Given the description of an element on the screen output the (x, y) to click on. 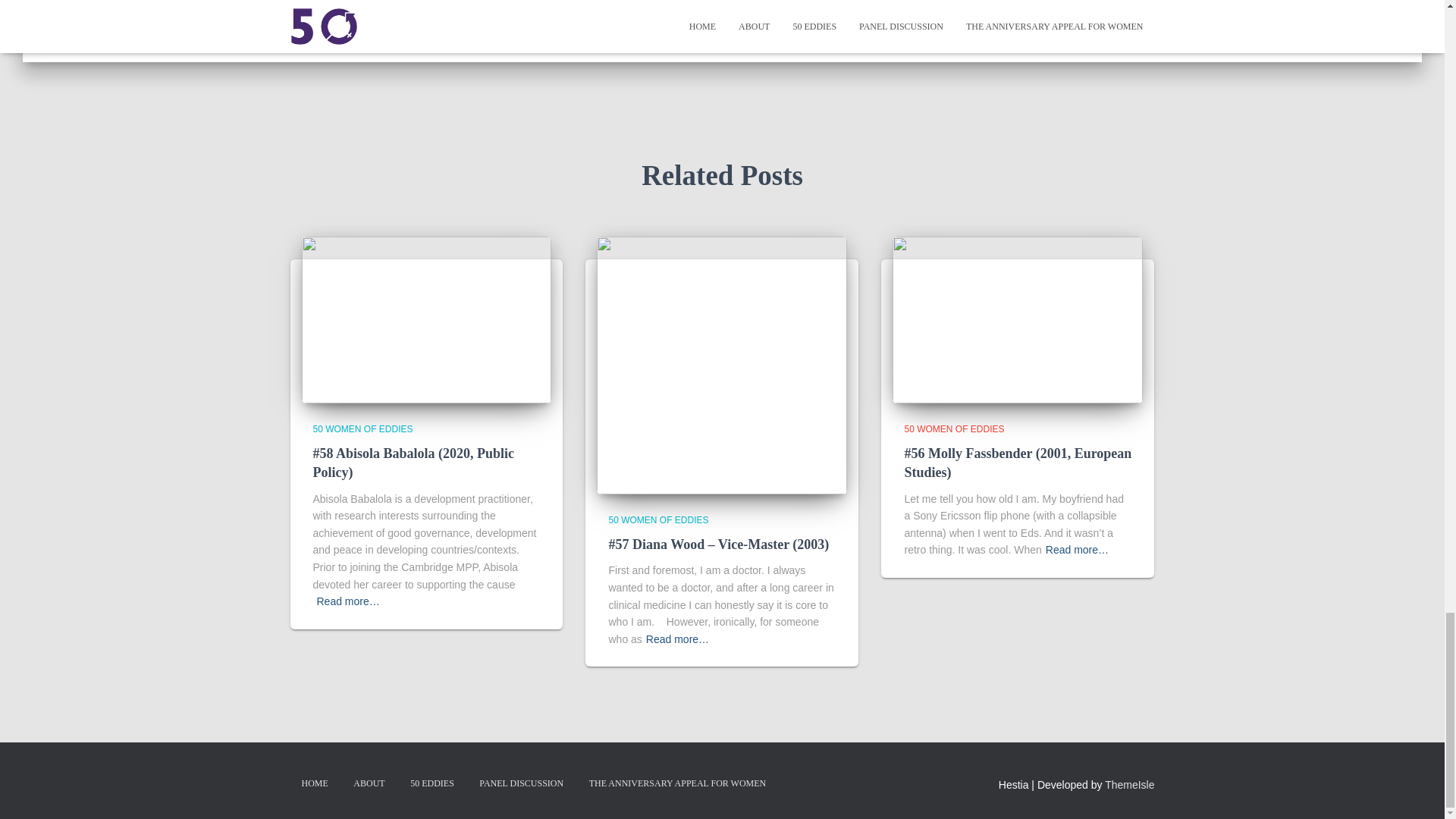
View all posts in 50 Women of Eddies (954, 429)
View all posts in 50 Women of Eddies (657, 520)
50 WOMEN OF EDDIES (362, 429)
View all posts in 50 Women of Eddies (362, 429)
